Given the description of an element on the screen output the (x, y) to click on. 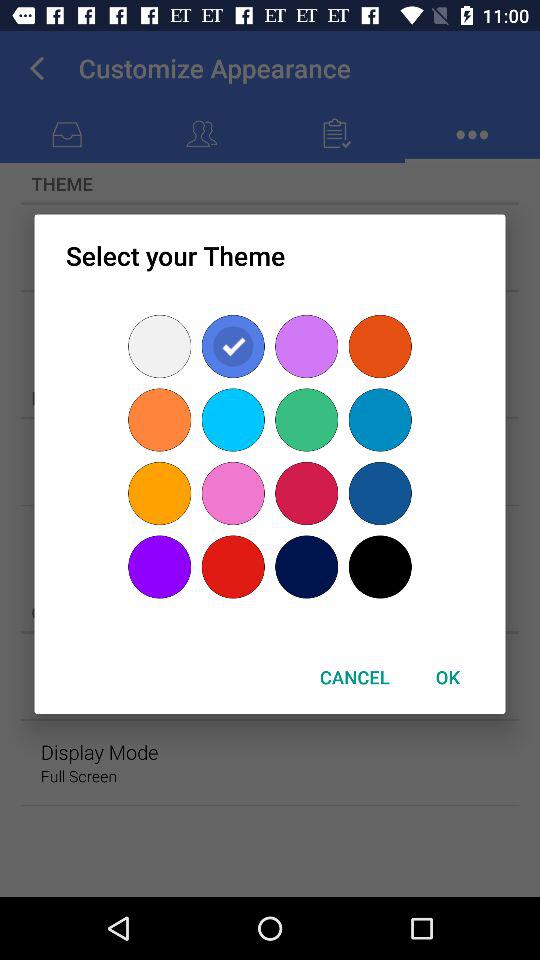
jump to the cancel icon (354, 676)
